Given the description of an element on the screen output the (x, y) to click on. 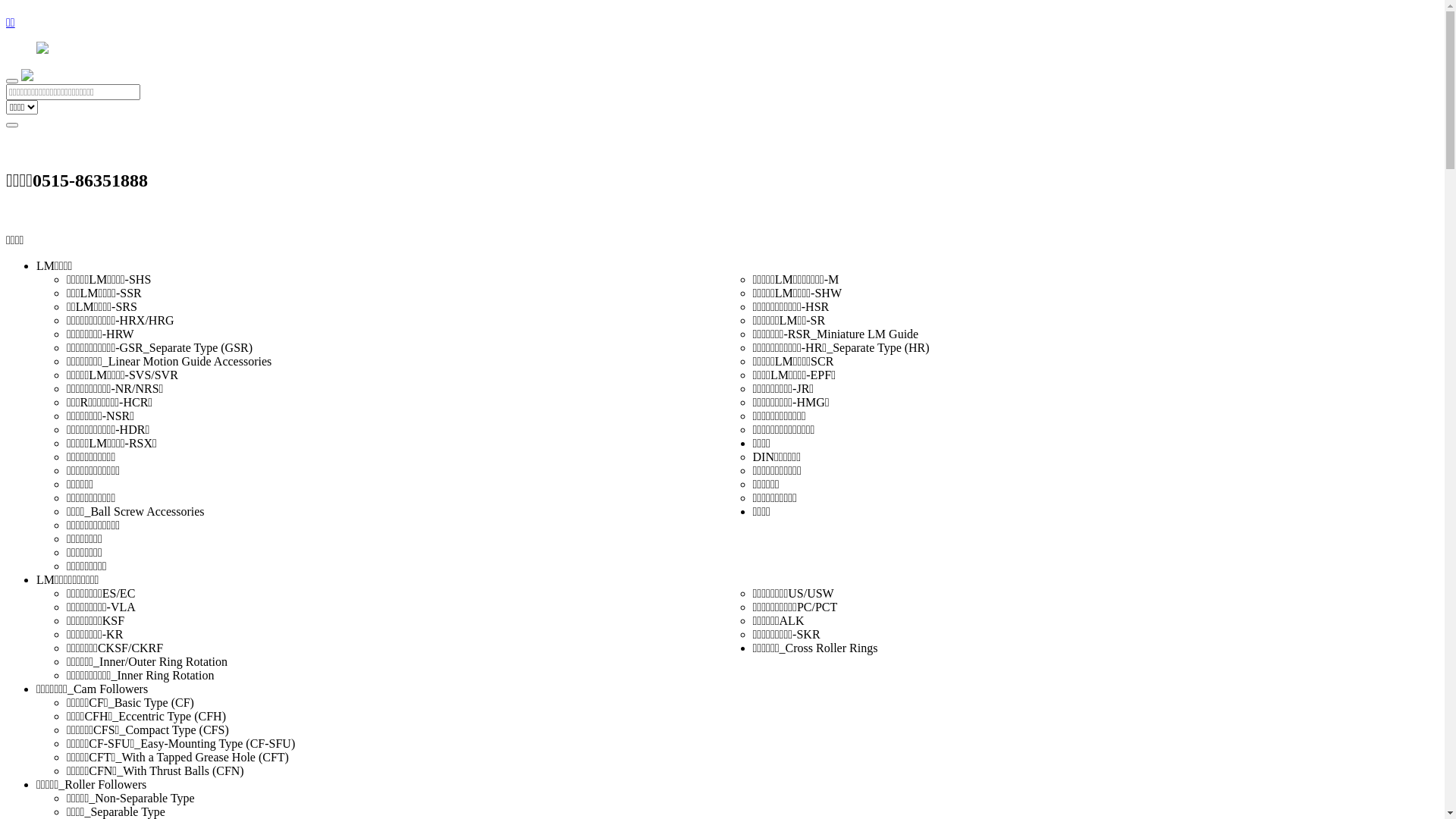
search Element type: hover (12, 124)
